Given the description of an element on the screen output the (x, y) to click on. 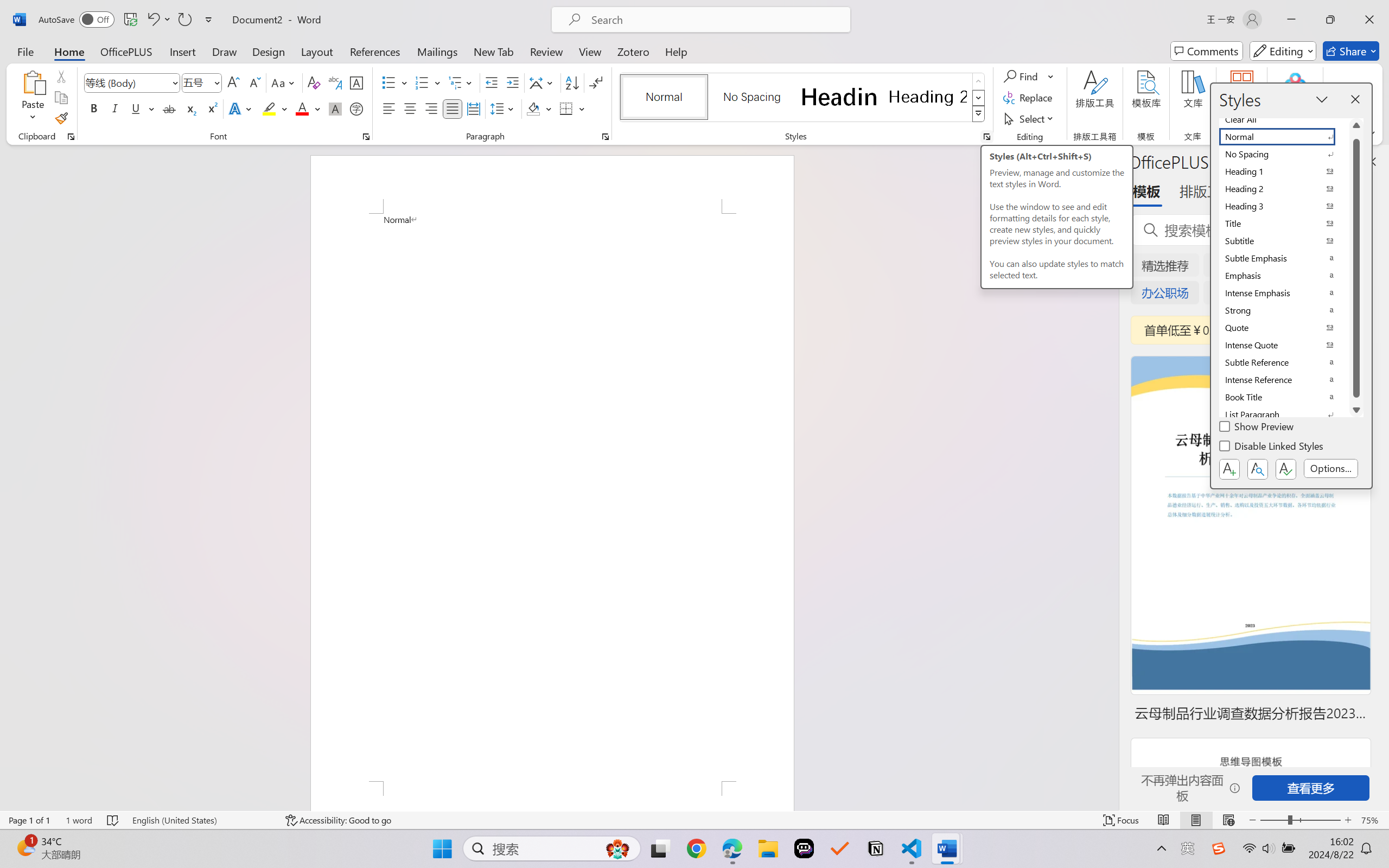
Borders (571, 108)
Font (132, 82)
Align Right (431, 108)
Paste (33, 81)
Undo Apply Quick Style (158, 19)
Justify (452, 108)
Class: NetUIScrollBar (1111, 477)
Draw (224, 51)
Microsoft search (715, 19)
Align Left (388, 108)
Bullets (388, 82)
Show Preview (1257, 428)
Office Clipboard... (70, 136)
